Given the description of an element on the screen output the (x, y) to click on. 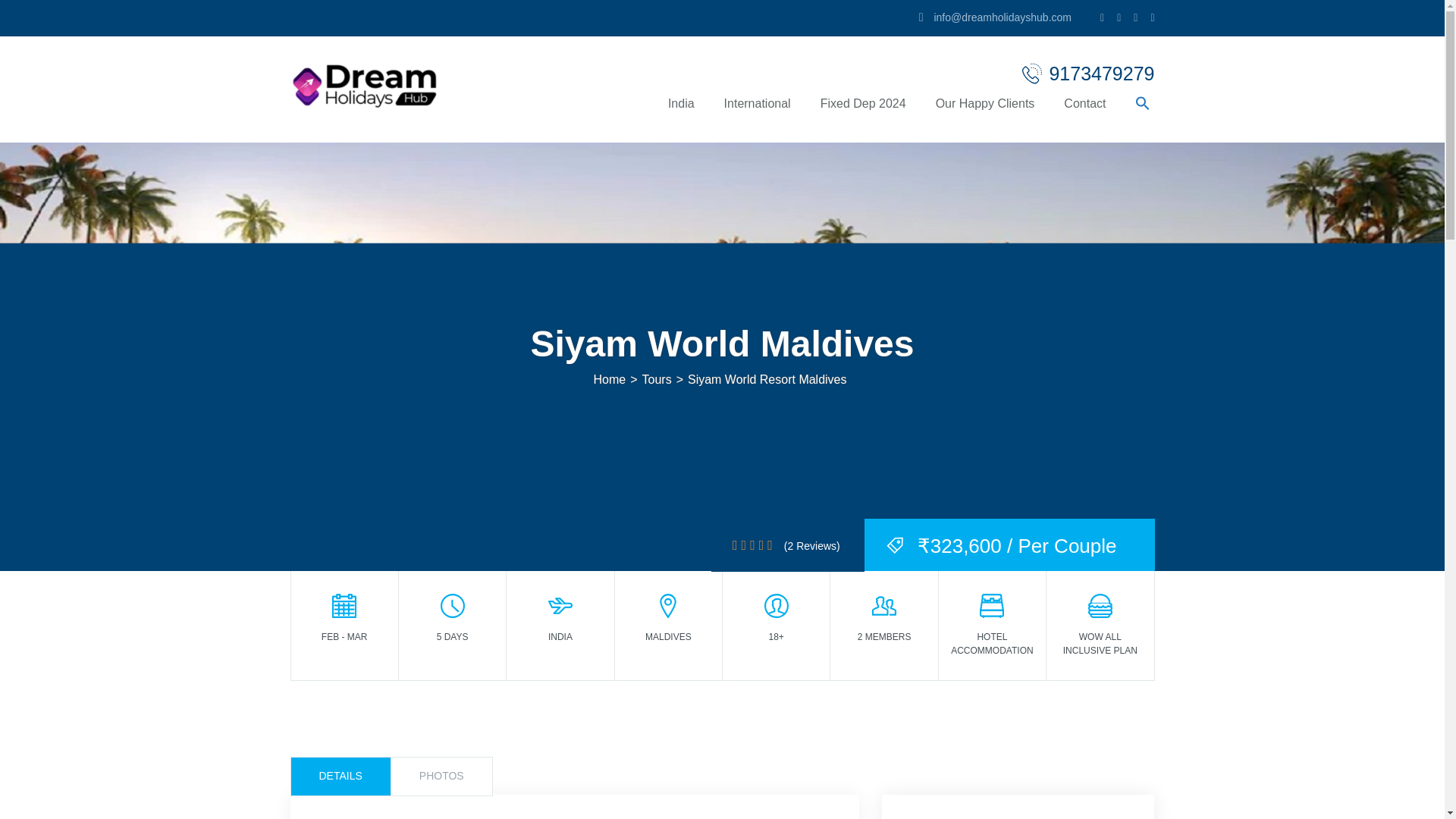
International (757, 117)
Contact (1084, 117)
Home (609, 379)
Fixed Dep 2024 (863, 117)
Tours (656, 379)
Tours (656, 379)
Siyam World Resort Maldives (767, 379)
Home (609, 379)
9173479279 (1087, 73)
Our Happy Clients (985, 117)
